Given the description of an element on the screen output the (x, y) to click on. 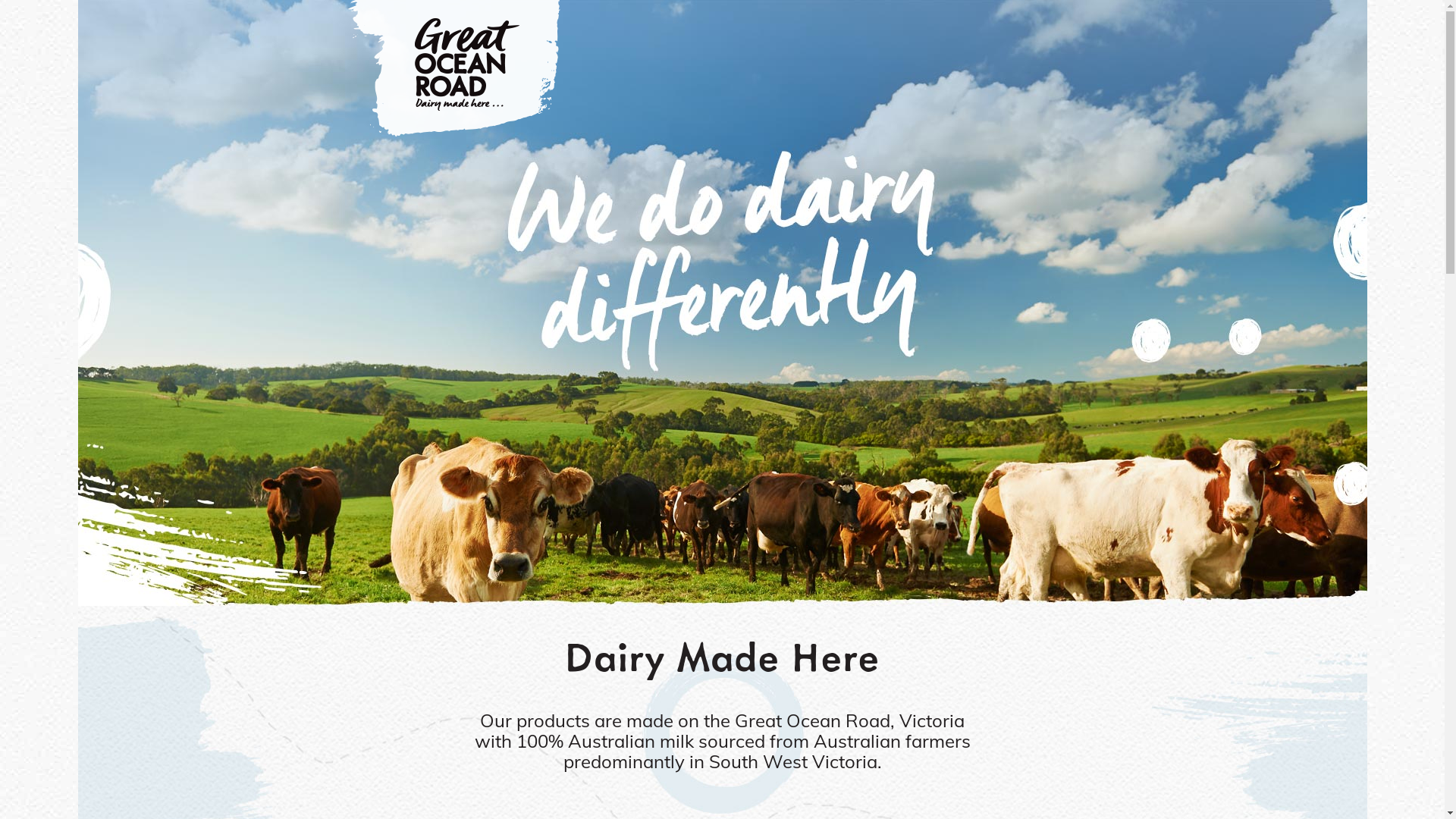
Home Element type: hover (454, 110)
